Given the description of an element on the screen output the (x, y) to click on. 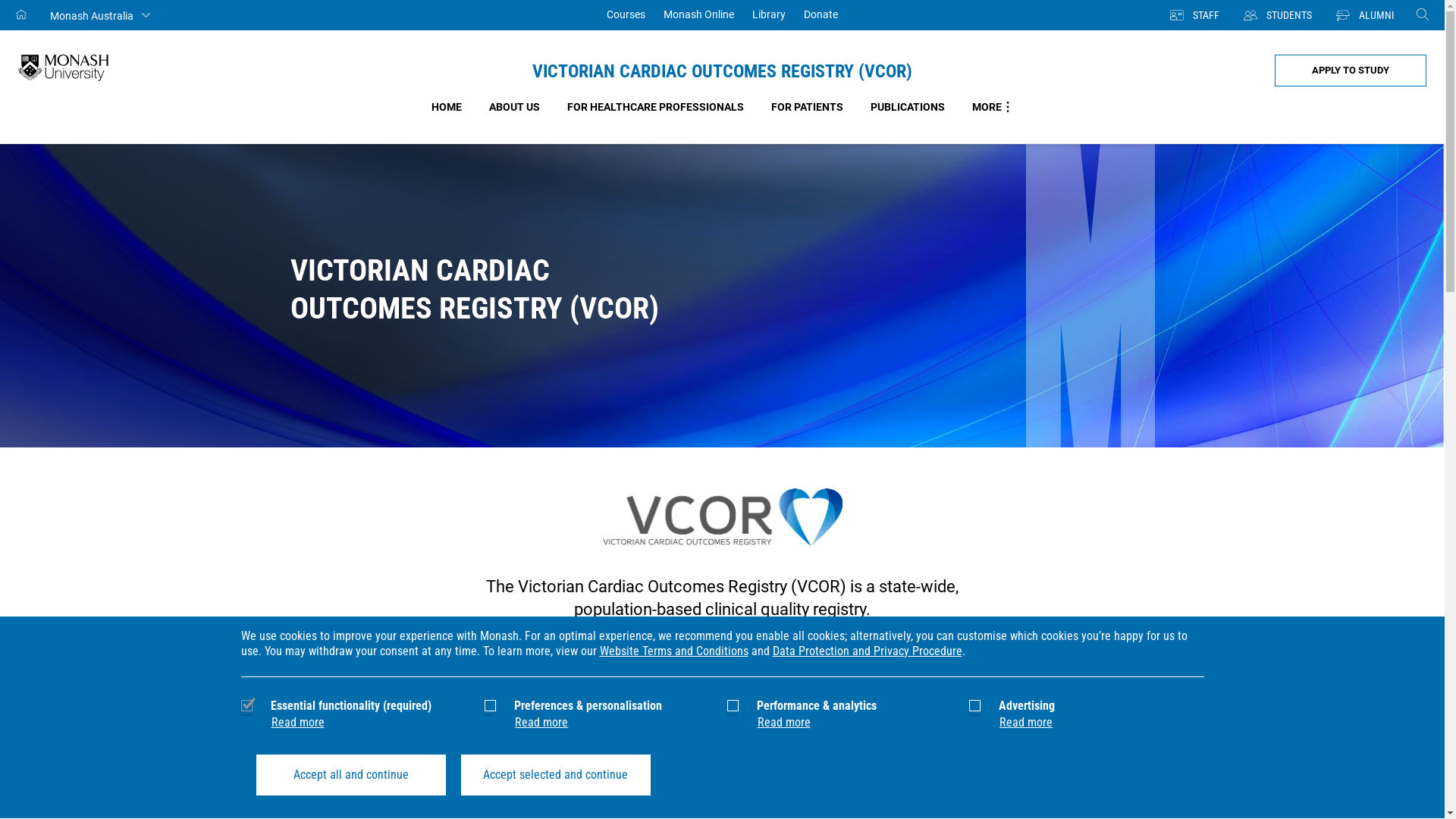
Home
Home icon Element type: text (21, 15)
APPLY TO STUDY Element type: text (1350, 70)
Monash Australia Element type: text (99, 15)
Accept all and continue Element type: text (350, 774)
VICTORIAN CARDIAC OUTCOMES REGISTRY (VCOR) Element type: text (722, 71)
ABOUT US Element type: text (513, 106)
Read more Element type: text (297, 722)
Data Protection and Privacy Procedure Element type: text (866, 650)
FOR PATIENTS Element type: text (806, 106)
PUBLICATIONS Element type: text (907, 106)
STUDENTS Element type: text (1277, 15)
Read more Element type: text (1025, 722)
SEARCH Element type: text (1422, 15)
Monash University Element type: hover (63, 67)
Read more Element type: text (783, 722)
Donate Element type: text (820, 15)
Read more Element type: text (540, 722)
HOME Element type: text (445, 106)
Website Terms and Conditions Element type: text (673, 650)
FOR HEALTHCARE PROFESSIONALS Element type: text (655, 106)
Courses Element type: text (625, 15)
MORE Element type: text (992, 106)
STAFF Element type: text (1194, 15)
Library Element type: text (768, 15)
Accept selected and continue Element type: text (555, 774)
VICTORIAN CARDIAC
OUTCOMES REGISTRY (VCOR) Element type: text (721, 295)
ALUMNI Element type: text (1365, 15)
Monash Online Element type: text (698, 15)
